Given the description of an element on the screen output the (x, y) to click on. 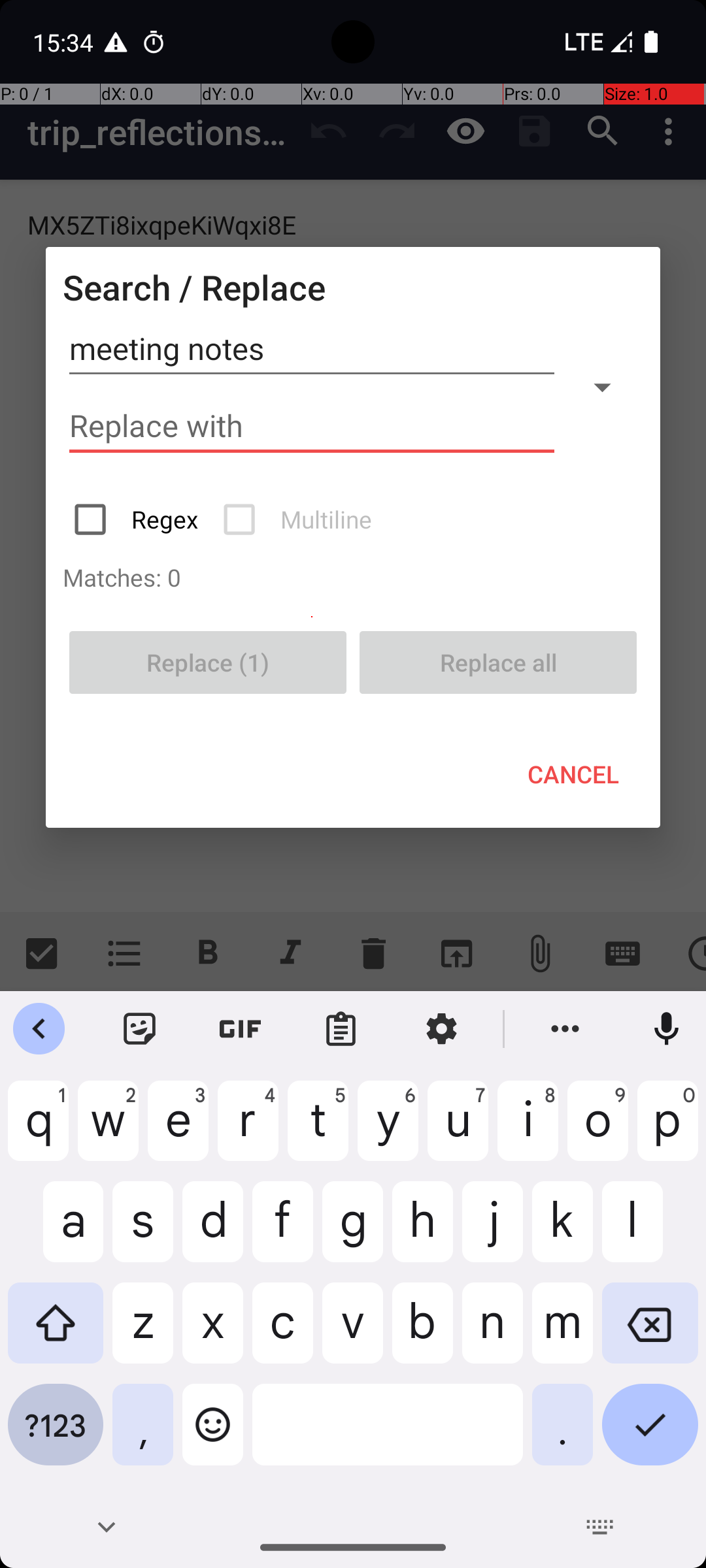
Search / Replace Element type: android.widget.TextView (193, 286)
meeting notes Element type: android.widget.EditText (311, 348)
Replace with Element type: android.widget.EditText (311, 425)
Choose format Element type: android.widget.TextView (601, 386)
Regex Element type: android.widget.CheckBox (136, 518)
Multiline Element type: android.widget.CheckBox (298, 518)
Matches: 0 Element type: android.widget.TextView (352, 576)
Replace (1) Element type: android.widget.Button (207, 662)
Replace all Element type: android.widget.Button (498, 662)
